Given the description of an element on the screen output the (x, y) to click on. 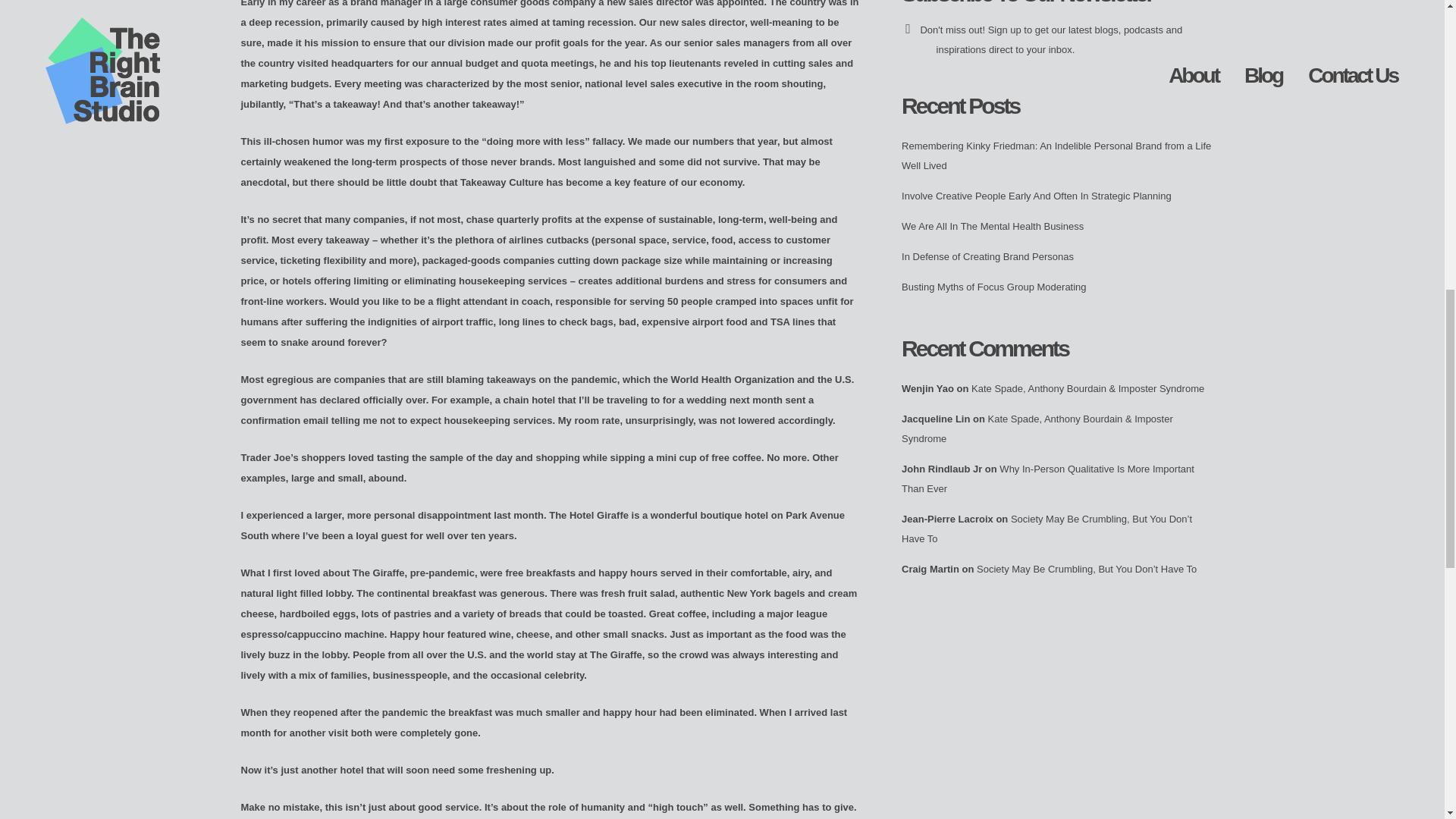
We Are All In The Mental Health Business (992, 225)
In Defense of Creating Brand Personas (987, 256)
Busting Myths of Focus Group Moderating (993, 286)
Why In-Person Qualitative Is More Important Than Ever (1047, 478)
